Given the description of an element on the screen output the (x, y) to click on. 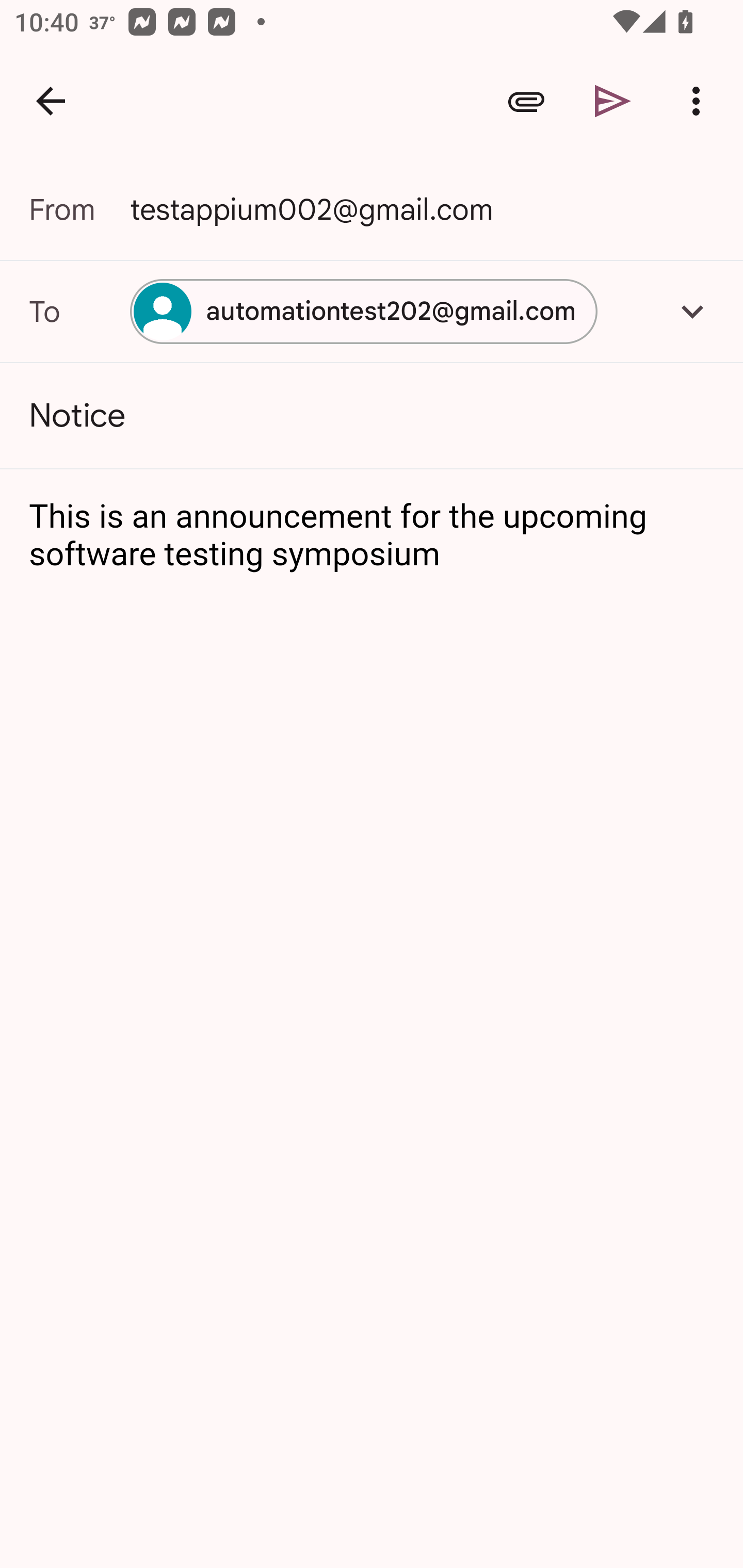
Navigate up (50, 101)
Attach file (525, 101)
Send (612, 101)
More options (699, 101)
From (79, 209)
Add Cc/Bcc (692, 311)
Notice (371, 415)
